Given the description of an element on the screen output the (x, y) to click on. 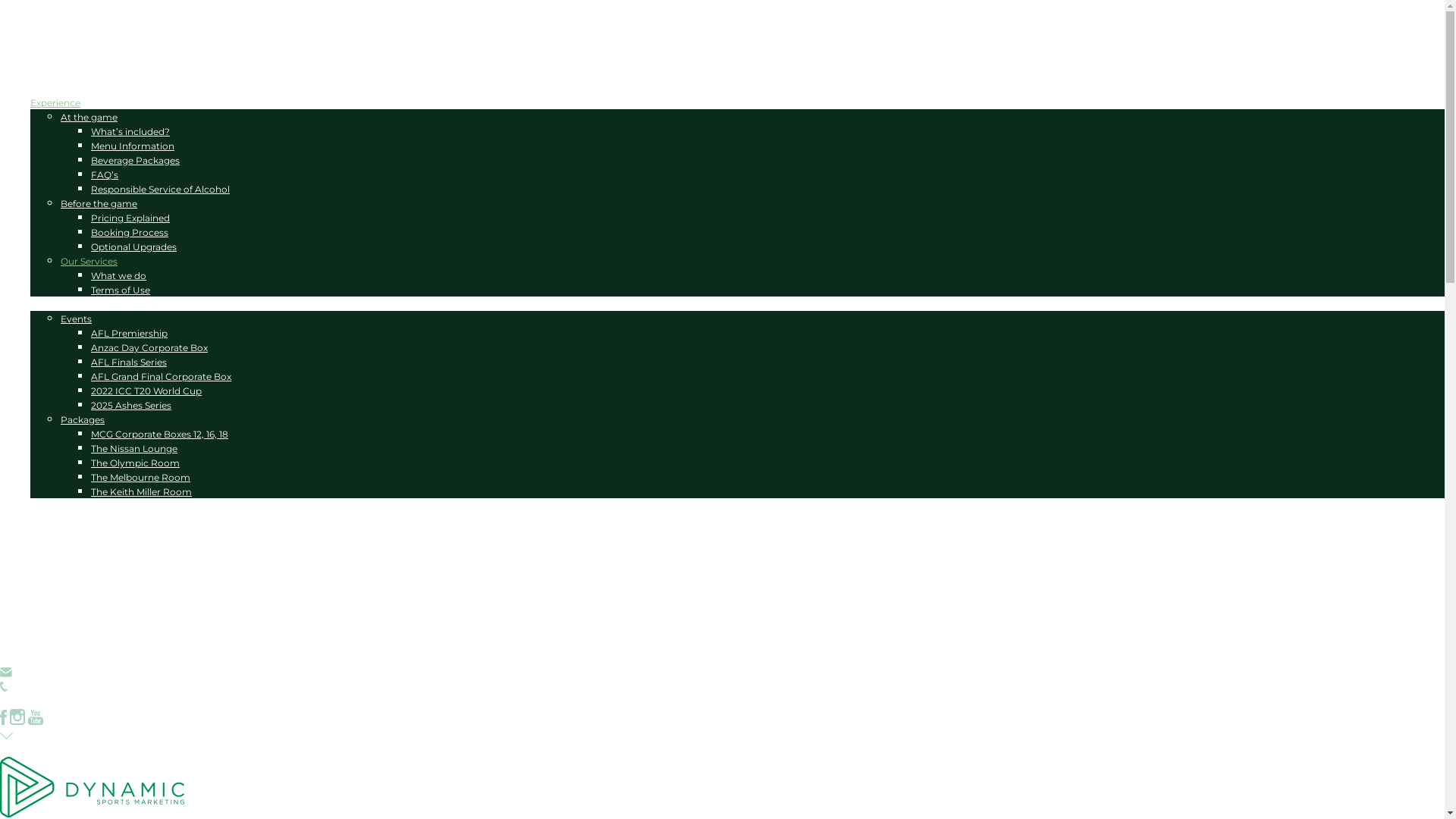
Anzac Day Corporate Box Element type: text (149, 347)
Experience Element type: text (55, 102)
Events Element type: text (75, 318)
Terms of Use Element type: text (120, 289)
About Us Element type: text (51, 505)
MCG Element type: text (41, 304)
AFL Grand Final Corporate Box Element type: text (161, 376)
Other Events Element type: text (109, 749)
MCG Corporate Boxes 12, 16, 18 Element type: text (159, 433)
Optional Upgrades Element type: text (133, 246)
What we do Element type: text (118, 275)
The Nissan Lounge Element type: text (134, 448)
AFL Finals Series Element type: text (128, 361)
2025 Ashes Series Element type: text (131, 405)
Contact Us Element type: text (55, 520)
Pricing Explained Element type: text (130, 217)
The Melbourne Room Element type: text (140, 477)
Search Events Element type: text (62, 73)
Booking Process Element type: text (129, 232)
2022 ICC T20 World Cup Element type: text (146, 390)
Home Element type: text (44, 59)
Beverage Packages Element type: text (135, 160)
The Keith Miller Room Element type: text (141, 491)
Menu Information Element type: text (132, 145)
AFL Premiership Element type: text (129, 332)
Packages Element type: text (82, 419)
The Olympic Room Element type: text (135, 462)
Calendar Element type: text (50, 88)
Responsible Service of Alcohol Element type: text (160, 188)
Before the game Element type: text (98, 203)
Our Services Element type: text (88, 260)
At the game Element type: text (88, 116)
